Given the description of an element on the screen output the (x, y) to click on. 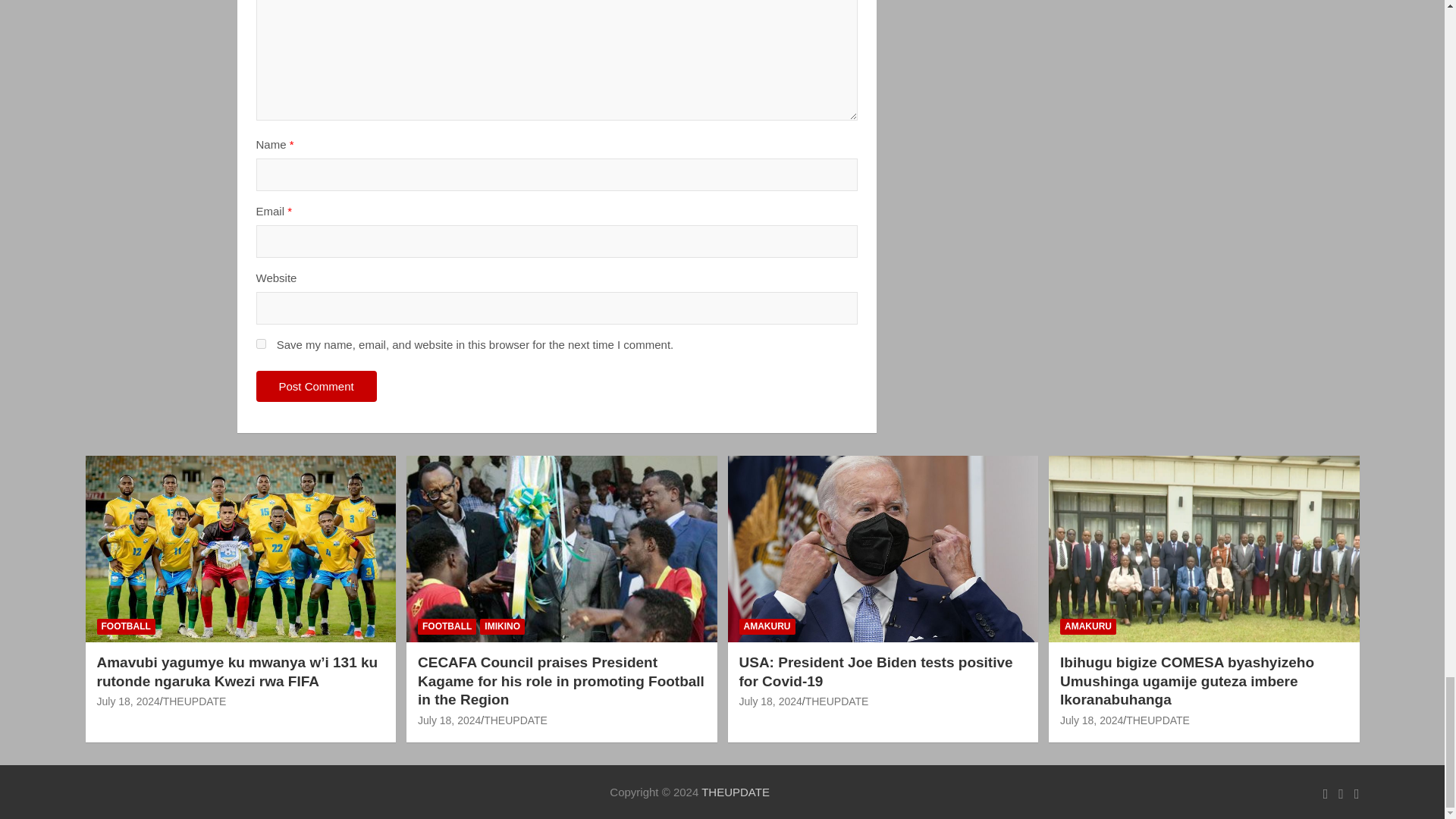
Post Comment (316, 386)
yes (261, 343)
